Given the description of an element on the screen output the (x, y) to click on. 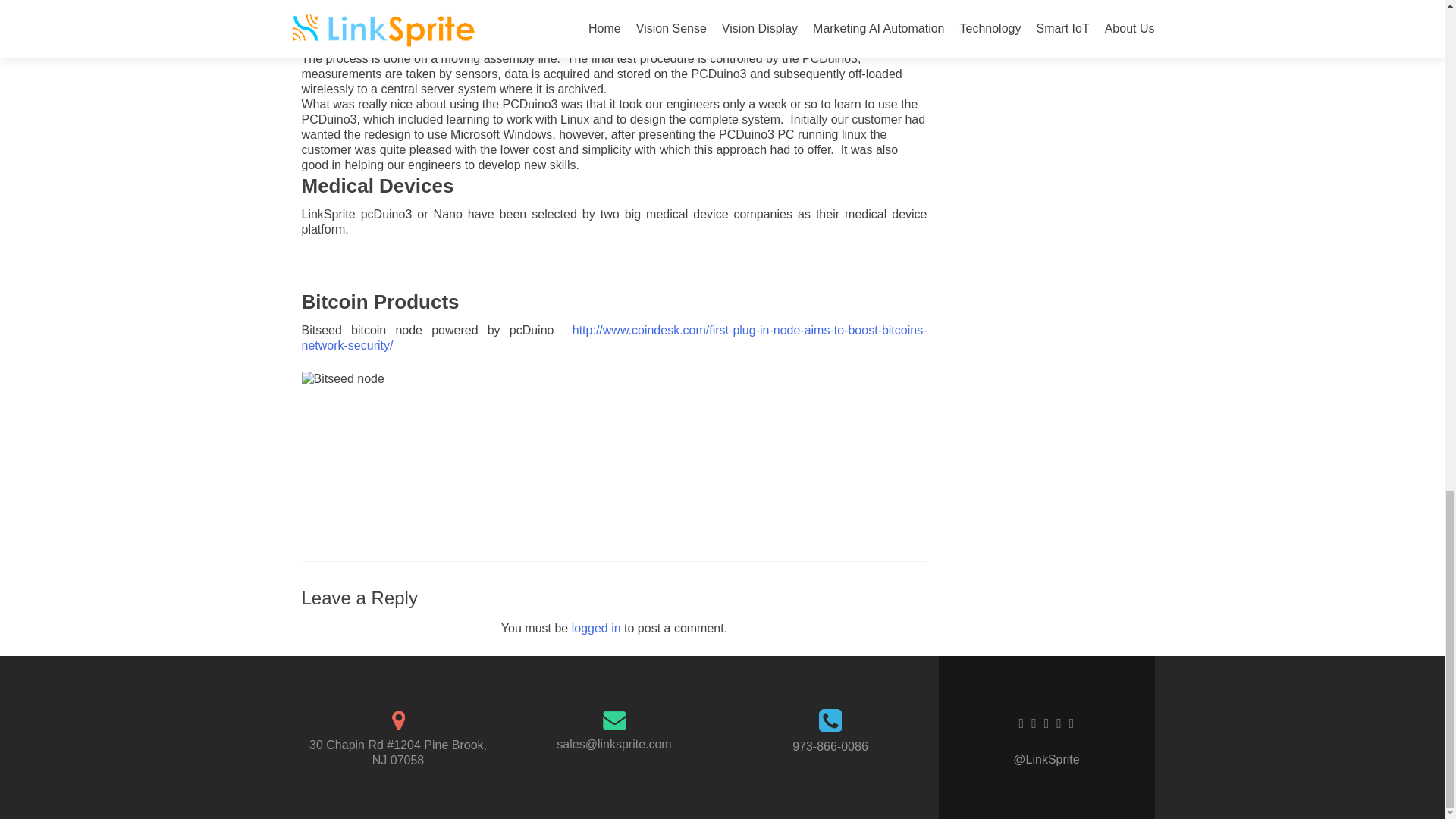
logged in (596, 627)
973-866-0086 (829, 746)
